Given the description of an element on the screen output the (x, y) to click on. 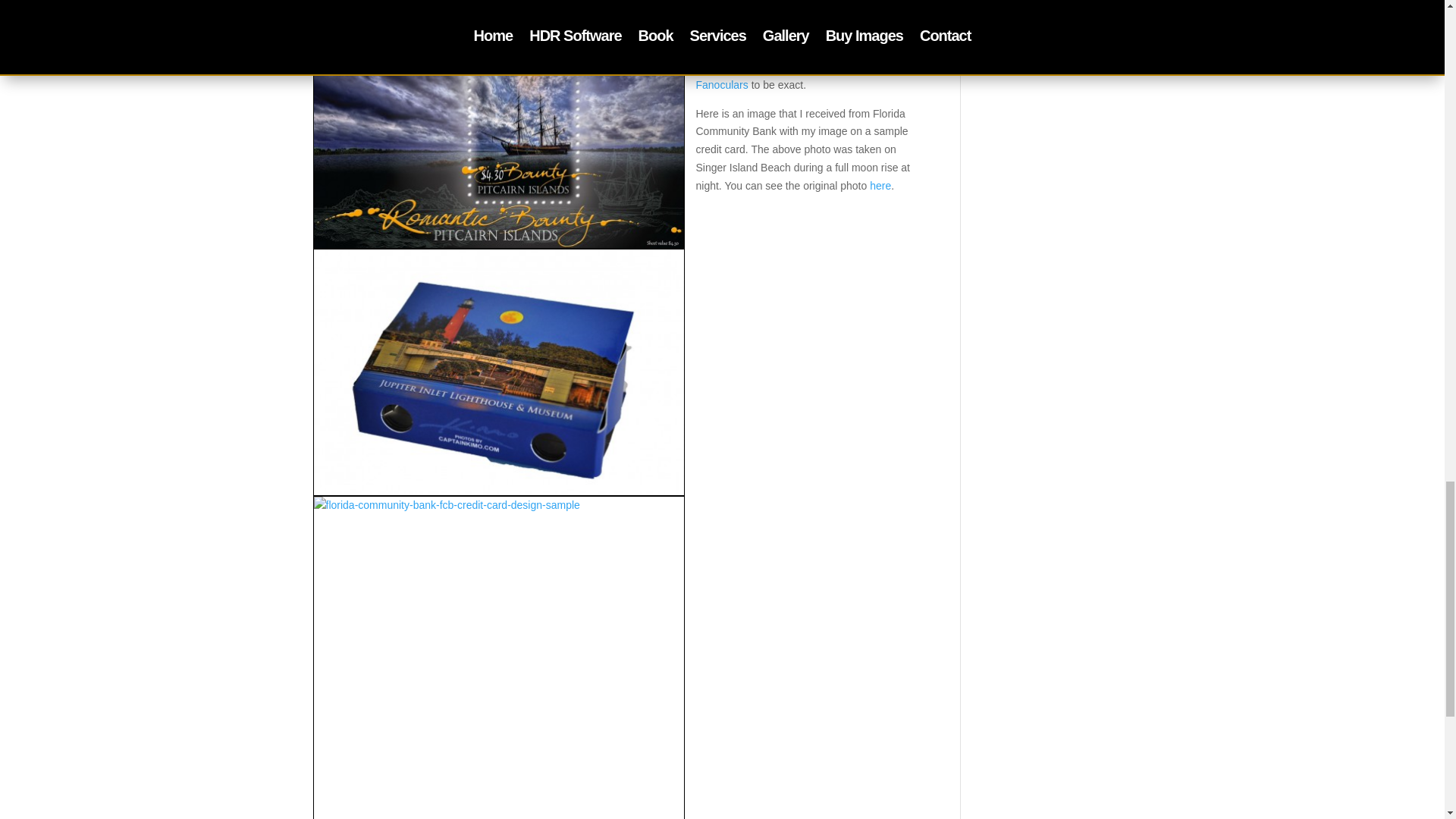
pitcarin-island-stamp-by-captain-kimo (498, 125)
here (880, 185)
Fanoculars (721, 84)
fanoculars-of-the-jupiter-lighthouse-full-moon (498, 372)
